Given the description of an element on the screen output the (x, y) to click on. 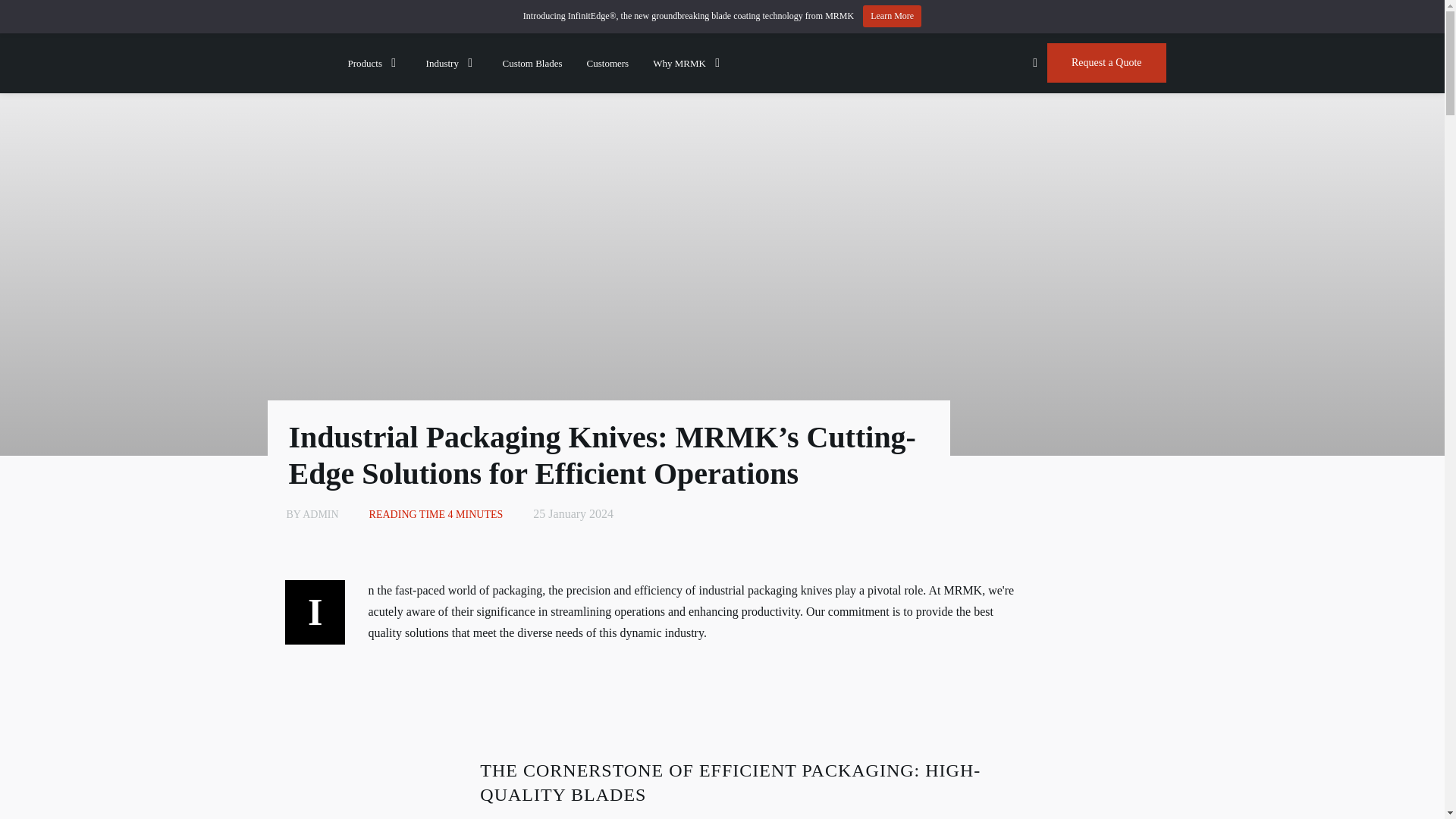
Custom Blades (532, 62)
Products (374, 62)
Customers (607, 62)
Industry (452, 62)
Why MRMK (688, 62)
